Given the description of an element on the screen output the (x, y) to click on. 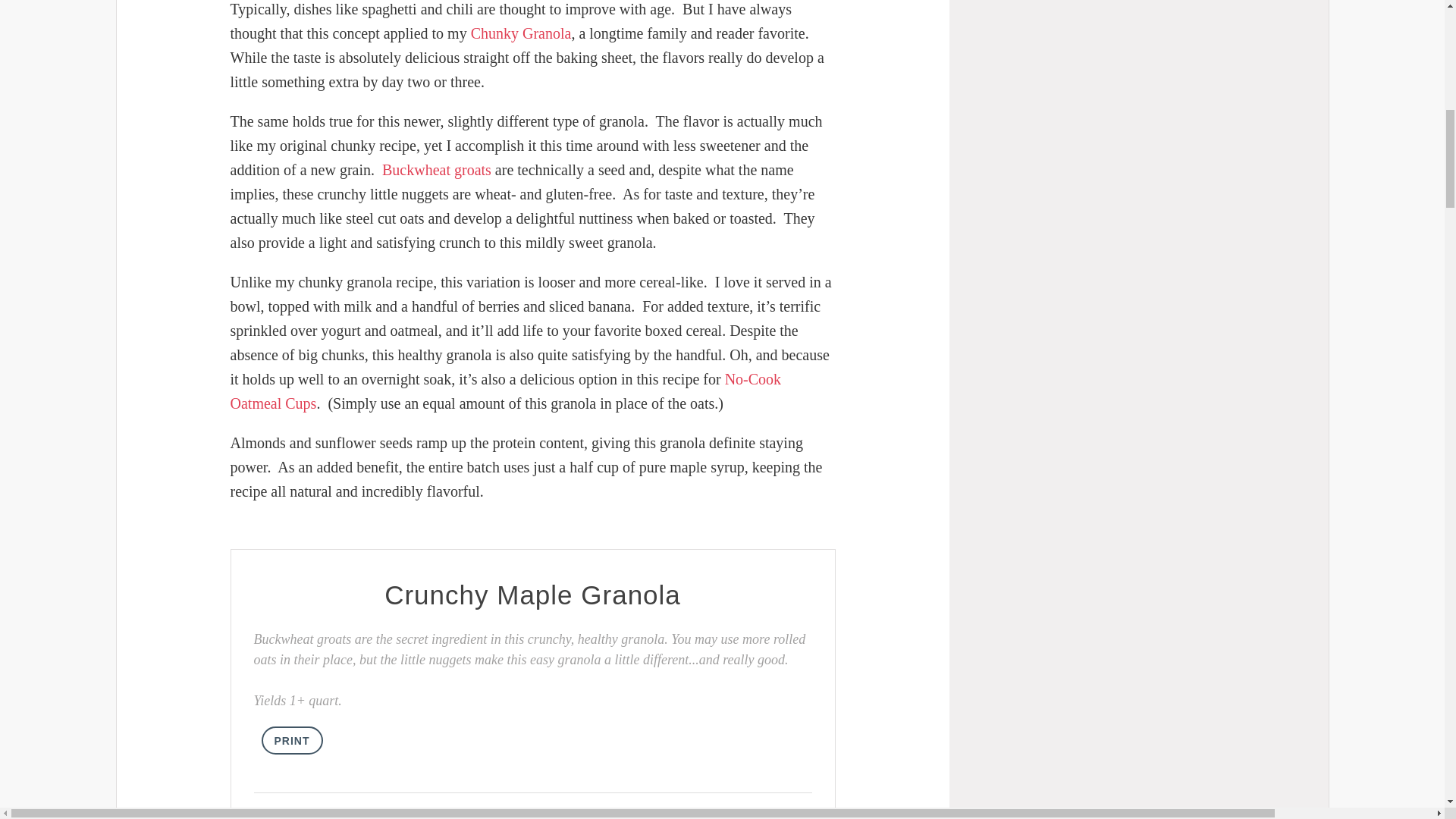
PRINT (290, 740)
Buckwheat groats (436, 169)
Chunky Granola (521, 33)
No-Cook Oatmeal Cups (505, 391)
